Given the description of an element on the screen output the (x, y) to click on. 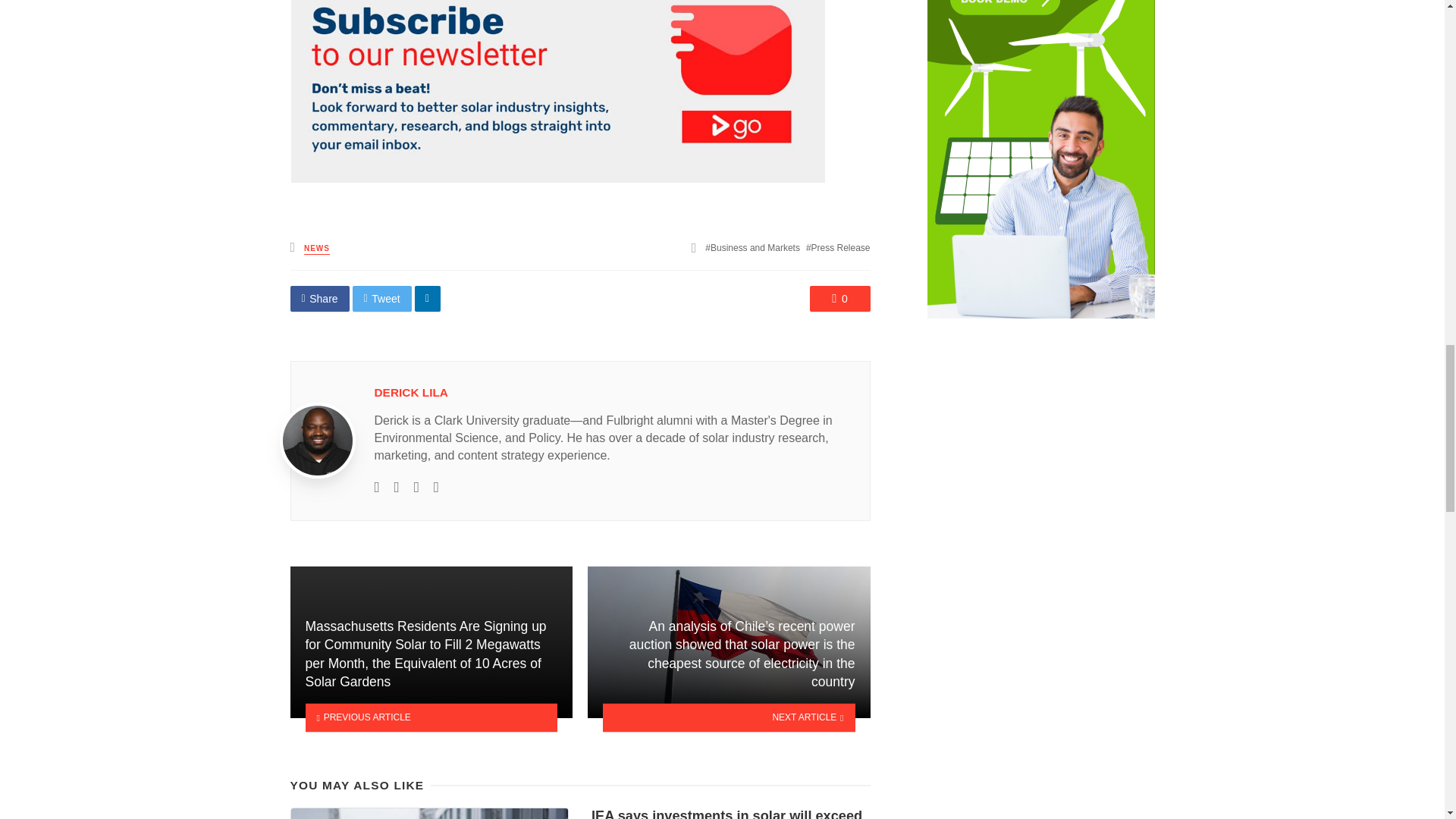
Share on Twitter (382, 298)
Share on Linkedin (427, 298)
Share on Facebook (319, 298)
Posts by Derick Lila (411, 391)
0 Comments (839, 298)
